Given the description of an element on the screen output the (x, y) to click on. 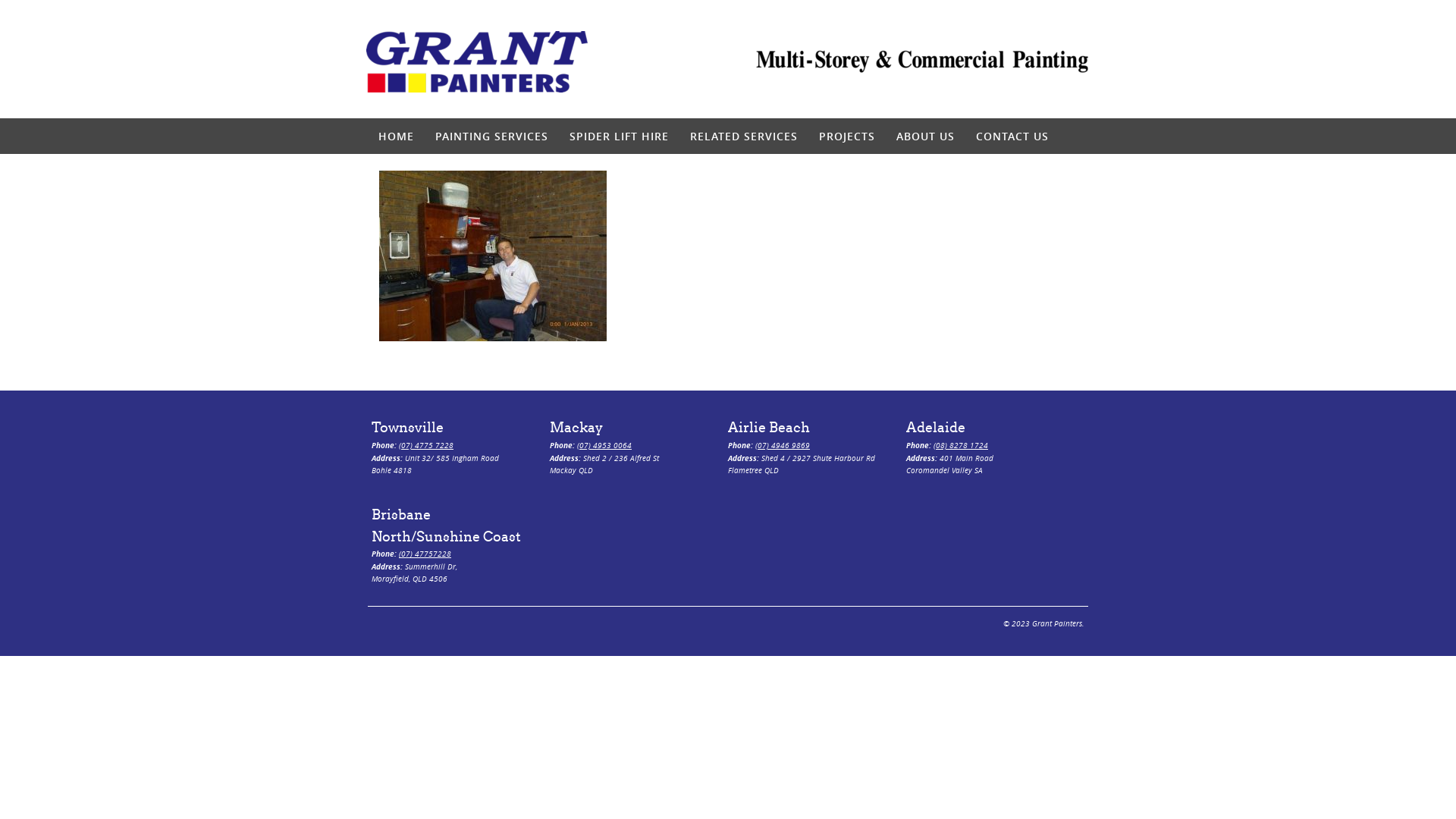
(07) 4953 0064 Element type: text (604, 445)
PAINTING SERVICES Element type: text (491, 135)
(08) 8278 1724 Element type: text (960, 445)
HOME Element type: text (395, 135)
(07) 47757228 Element type: text (424, 553)
PROJECTS Element type: text (846, 135)
RELATED SERVICES Element type: text (743, 135)
SPIDER LIFT HIRE Element type: text (618, 135)
CONTACT US Element type: text (1012, 135)
(07) 4946 9869 Element type: text (782, 445)
(07) 4775 7228 Element type: text (425, 445)
ABOUT US Element type: text (925, 135)
